Given the description of an element on the screen output the (x, y) to click on. 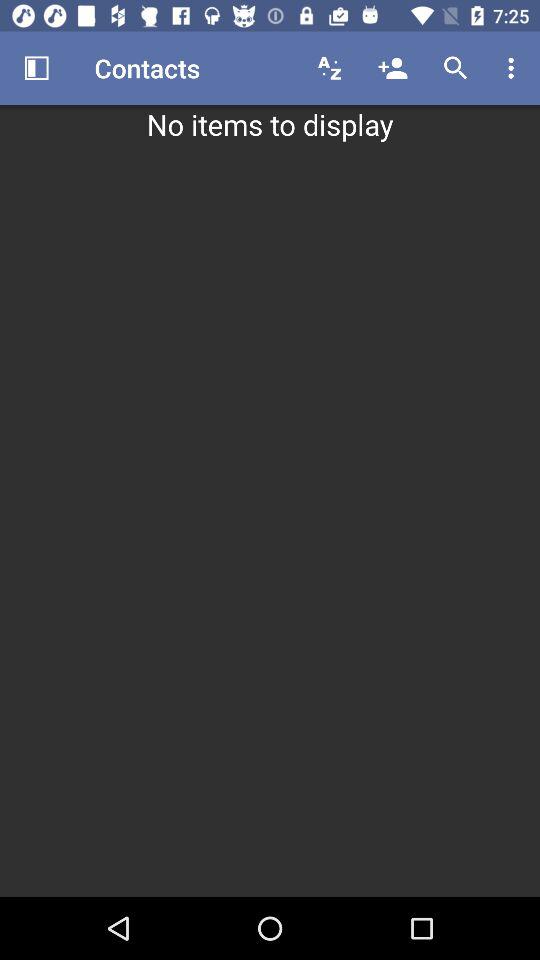
click the item above the no items to icon (36, 68)
